Given the description of an element on the screen output the (x, y) to click on. 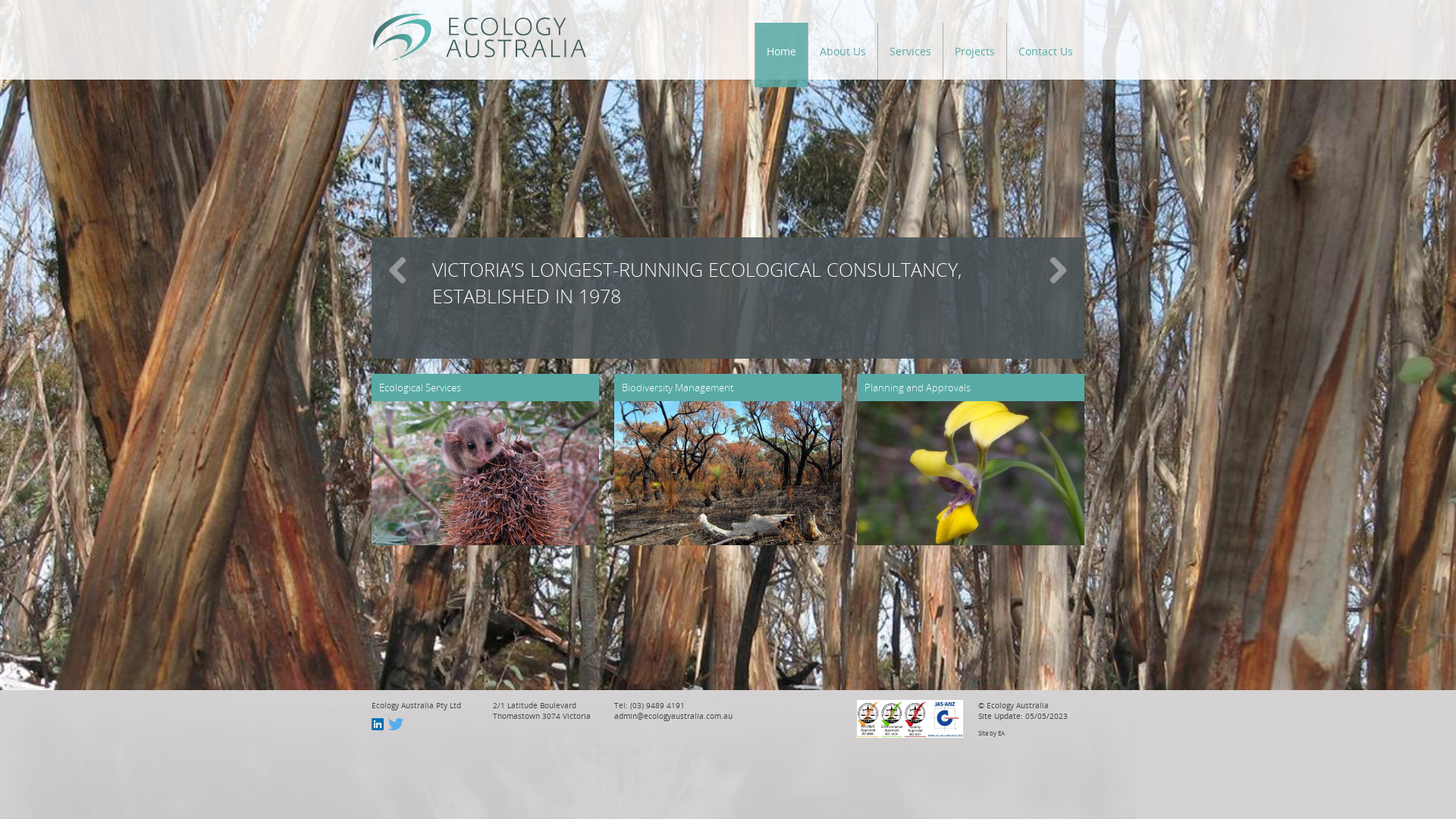
Services Element type: text (909, 50)
Contact Us Element type: text (1045, 50)
Ecology Australia Element type: text (479, 36)
Biodiversity Management Element type: text (727, 459)
Planning and Approvals Element type: text (970, 459)
Ecological Services Element type: text (485, 459)
admin@ecologyaustralia.com.au Element type: text (673, 715)
Home Element type: text (780, 50)
Projects Element type: text (974, 50)
EA Element type: text (1000, 732)
About Us Element type: text (842, 50)
